Given the description of an element on the screen output the (x, y) to click on. 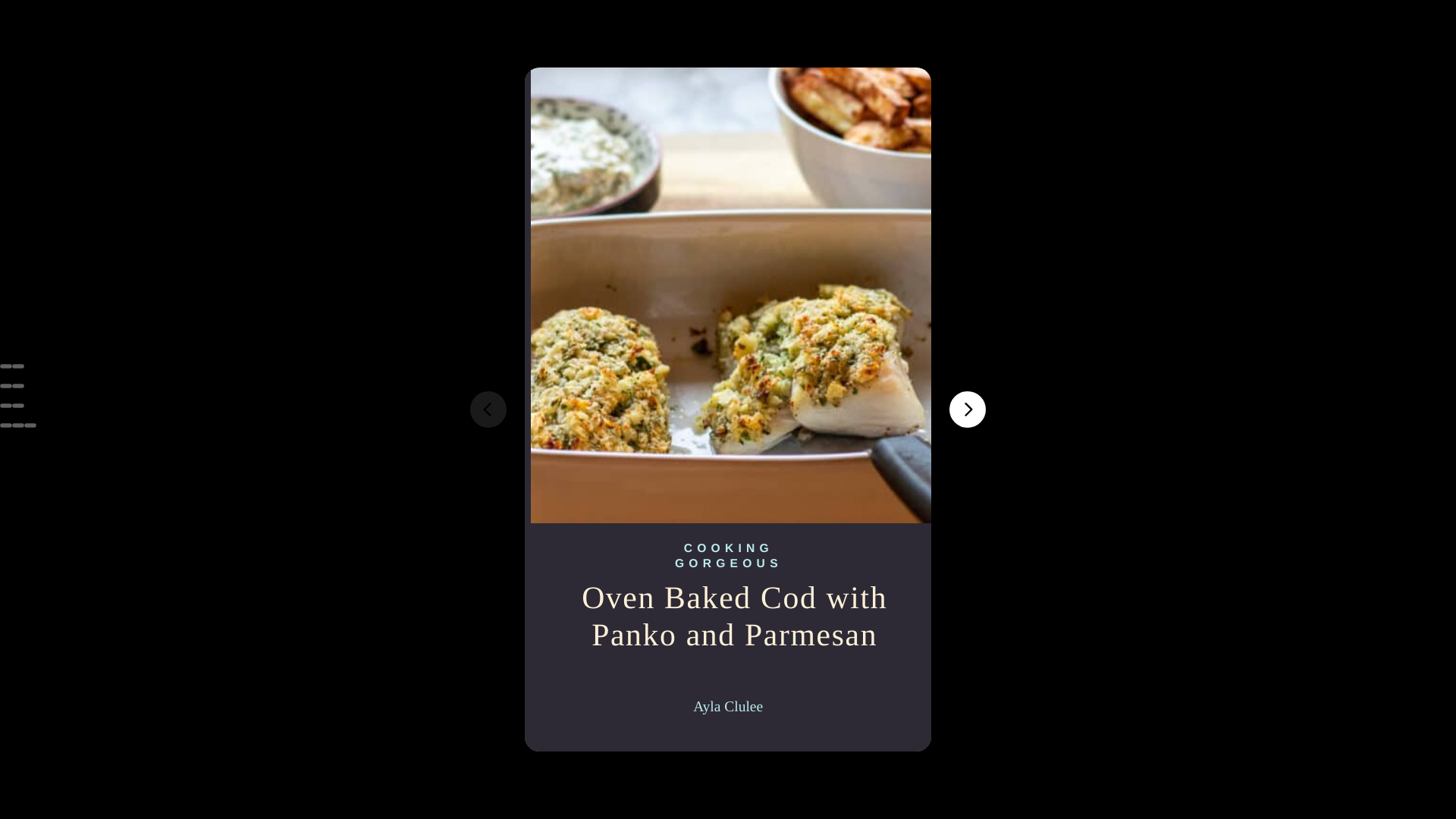
Oven Baked Cod with Panko and Parmesan (734, 634)
Keep scrolling to find out more! (729, 348)
